Given the description of an element on the screen output the (x, y) to click on. 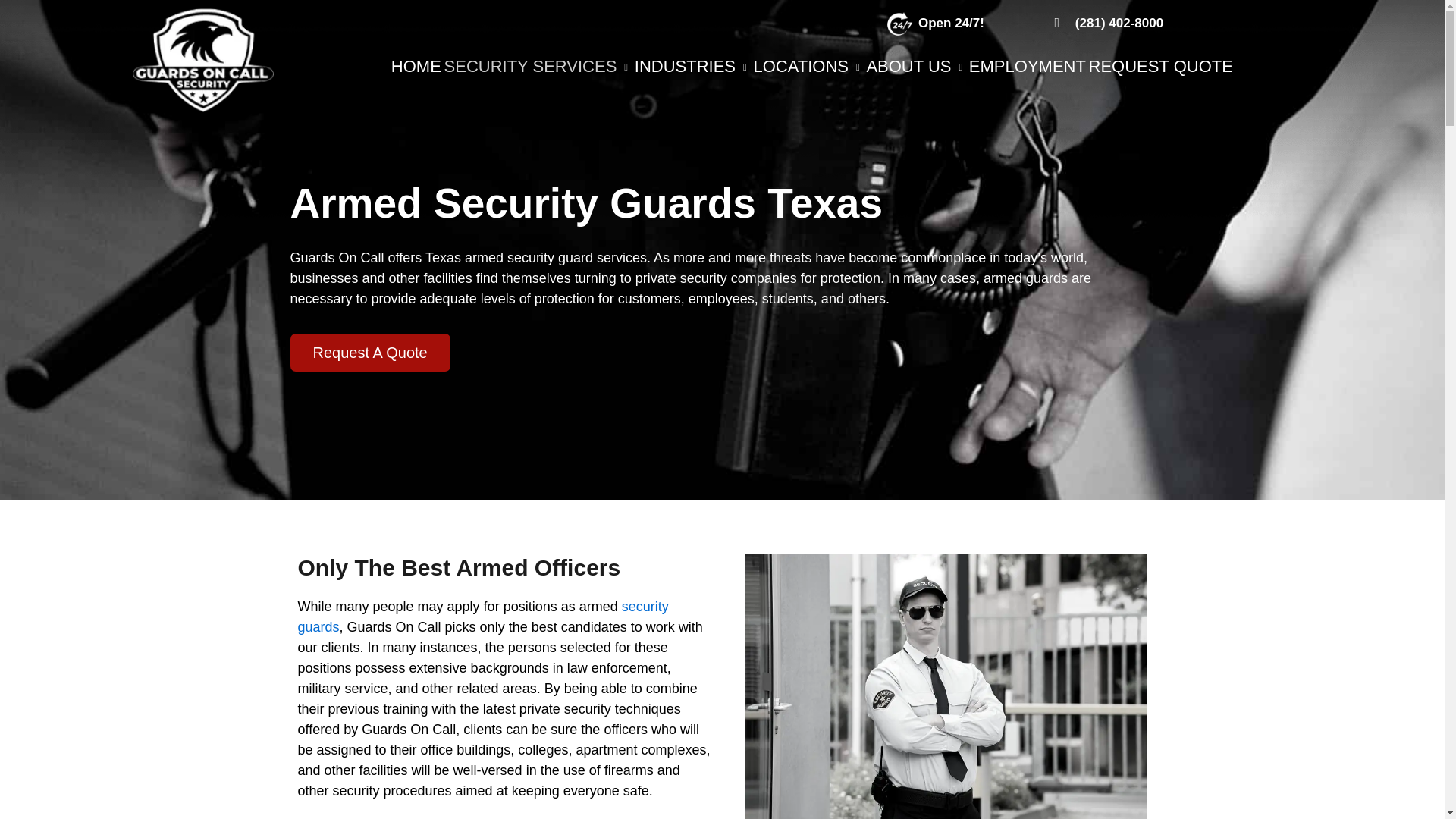
SECURITY SERVICES (537, 66)
INDUSTRIES (692, 66)
HOME (416, 66)
LOCATIONS (807, 66)
